Given the description of an element on the screen output the (x, y) to click on. 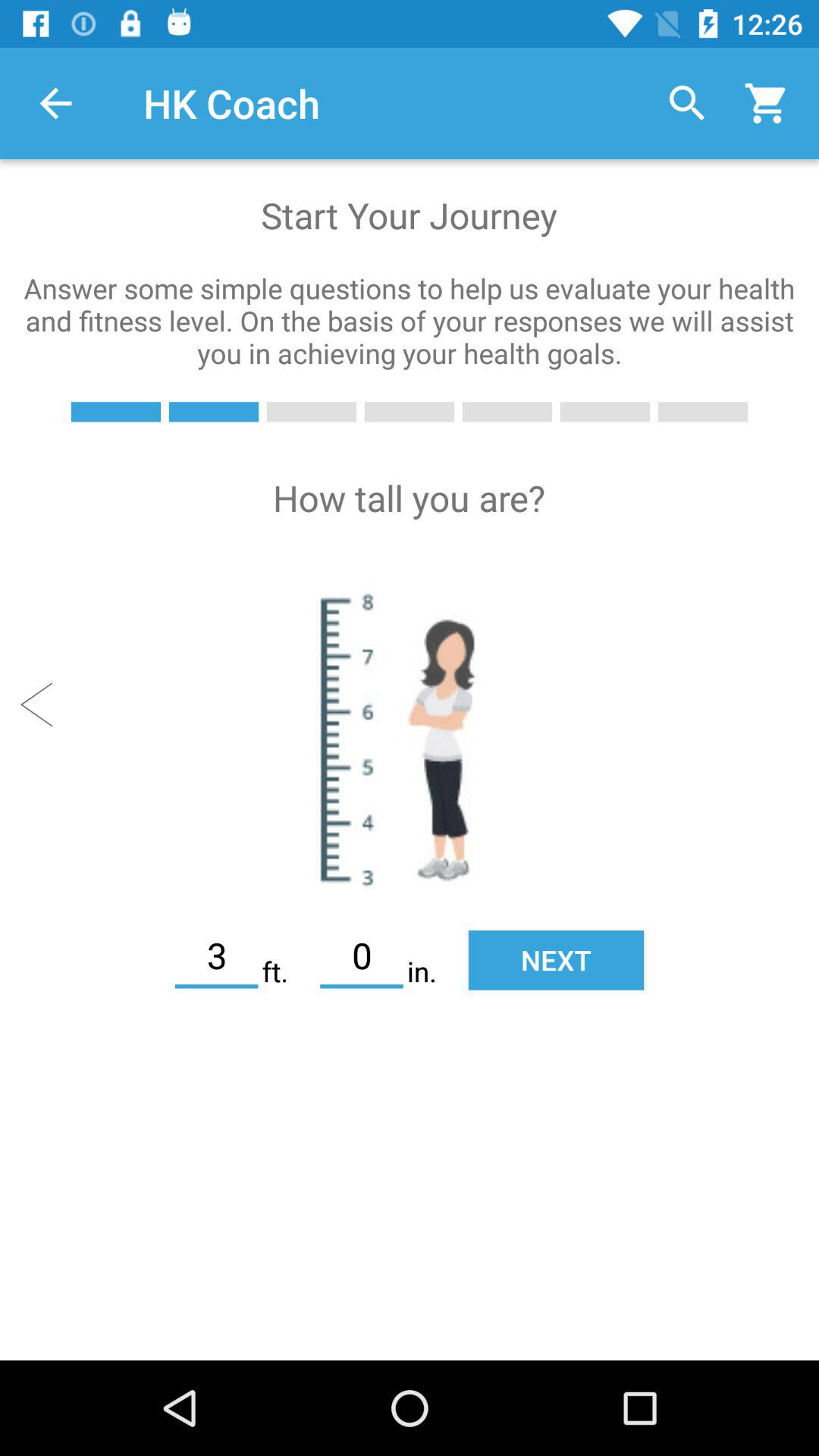
go to previous page (43, 704)
